Given the description of an element on the screen output the (x, y) to click on. 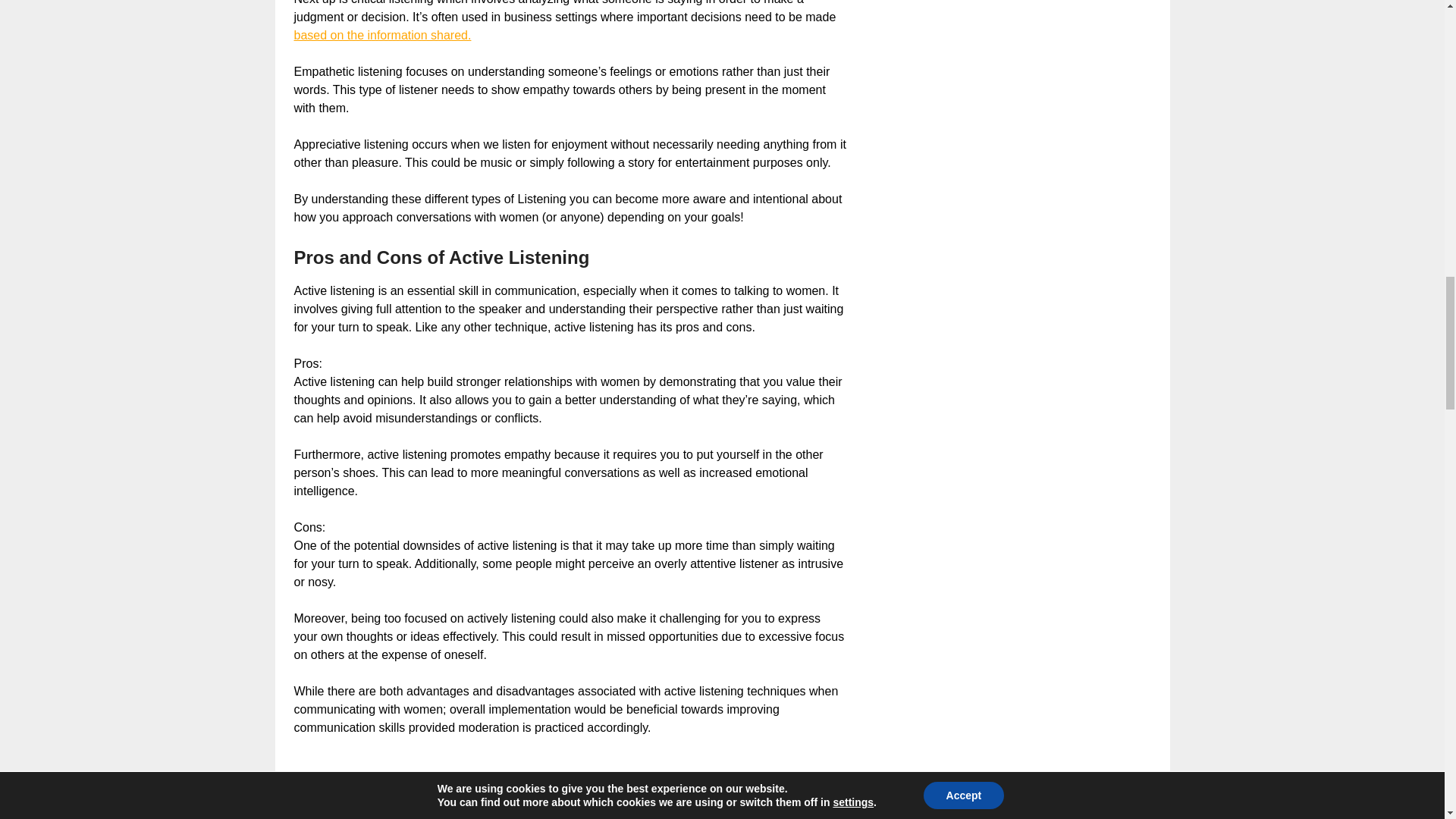
based on the information shared. (382, 34)
